Given the description of an element on the screen output the (x, y) to click on. 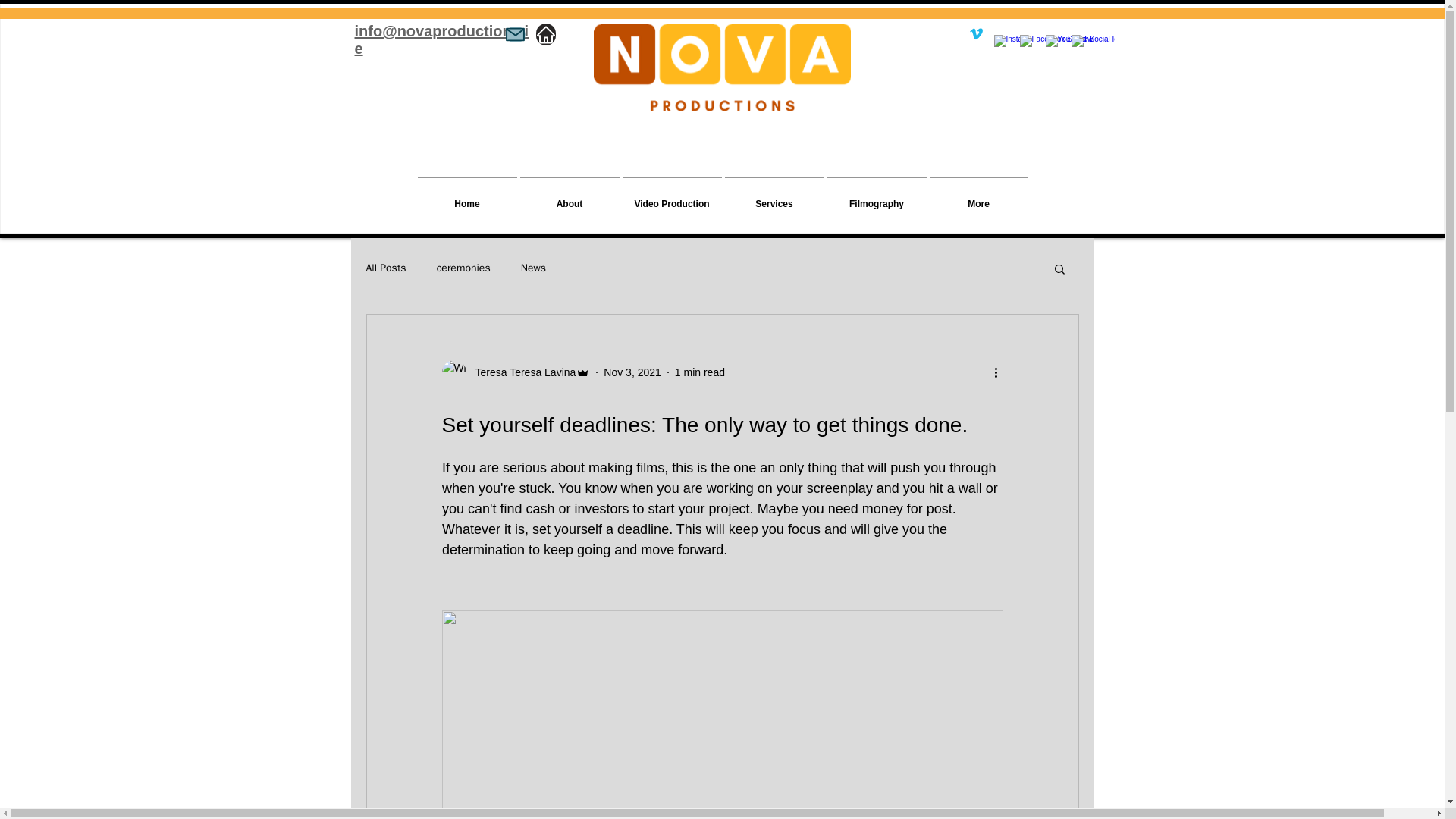
ceremonies (463, 268)
About (569, 197)
Filmography (876, 197)
Nov 3, 2021 (632, 371)
Services (774, 197)
1 min read (700, 371)
All Posts (385, 268)
Teresa Teresa Lavina (520, 371)
Home (466, 197)
Video Production (671, 197)
